Given the description of an element on the screen output the (x, y) to click on. 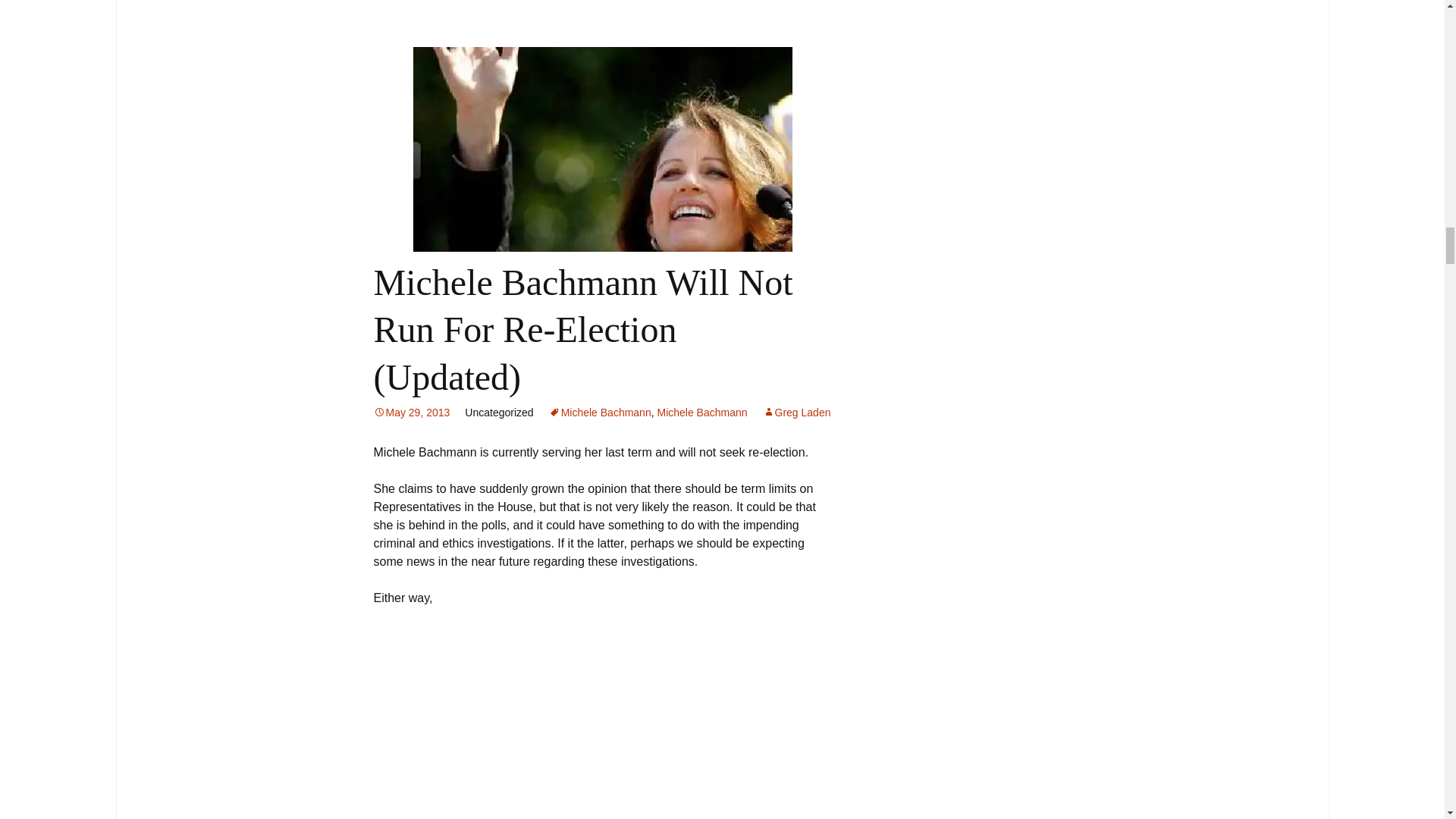
Michele Bachmann (599, 412)
View all posts by Greg Laden (796, 412)
Michele Bachmann (701, 412)
Greg Laden (796, 412)
May 29, 2013 (410, 412)
